Given the description of an element on the screen output the (x, y) to click on. 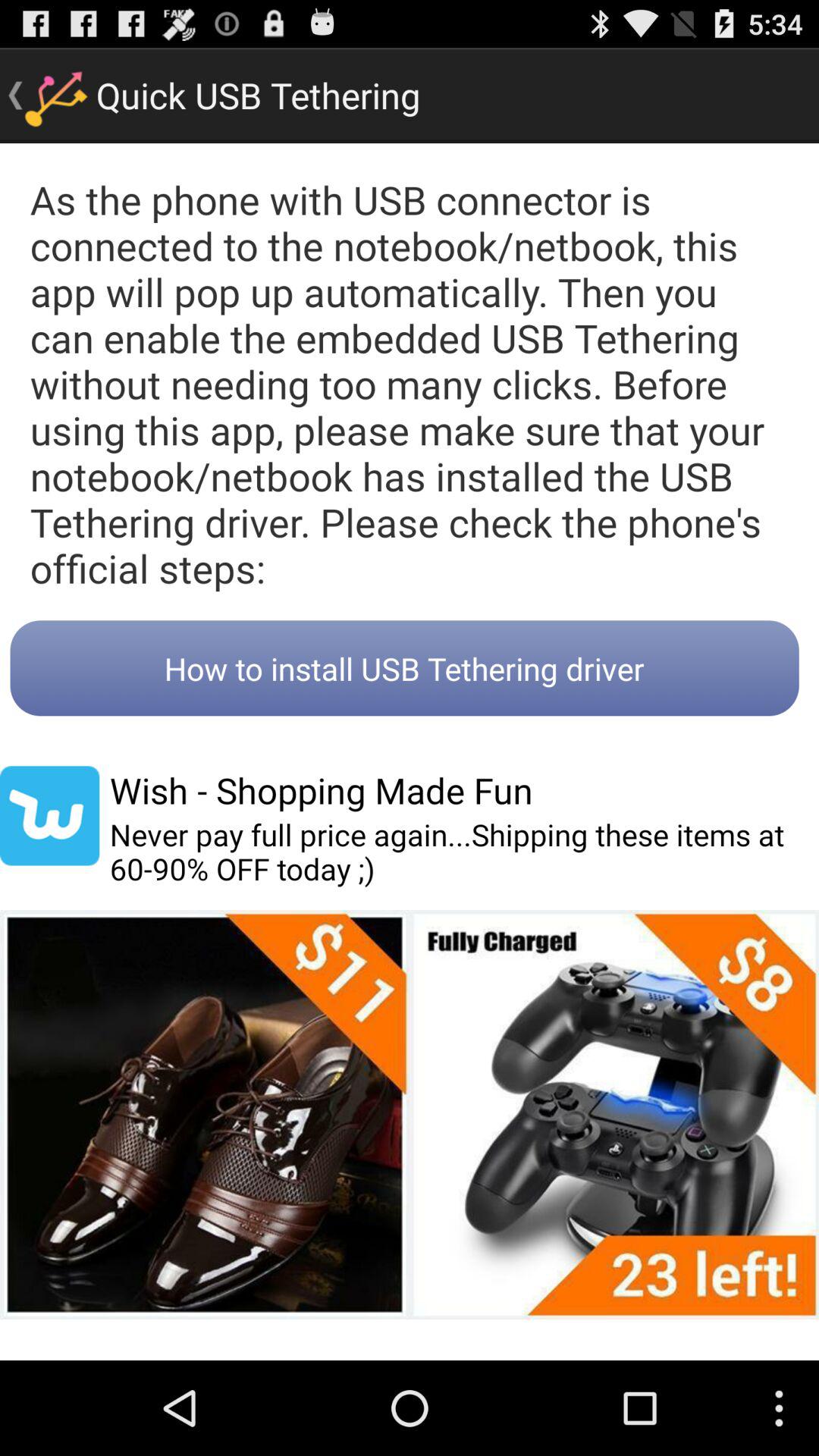
open wish shopping made item (320, 790)
